Given the description of an element on the screen output the (x, y) to click on. 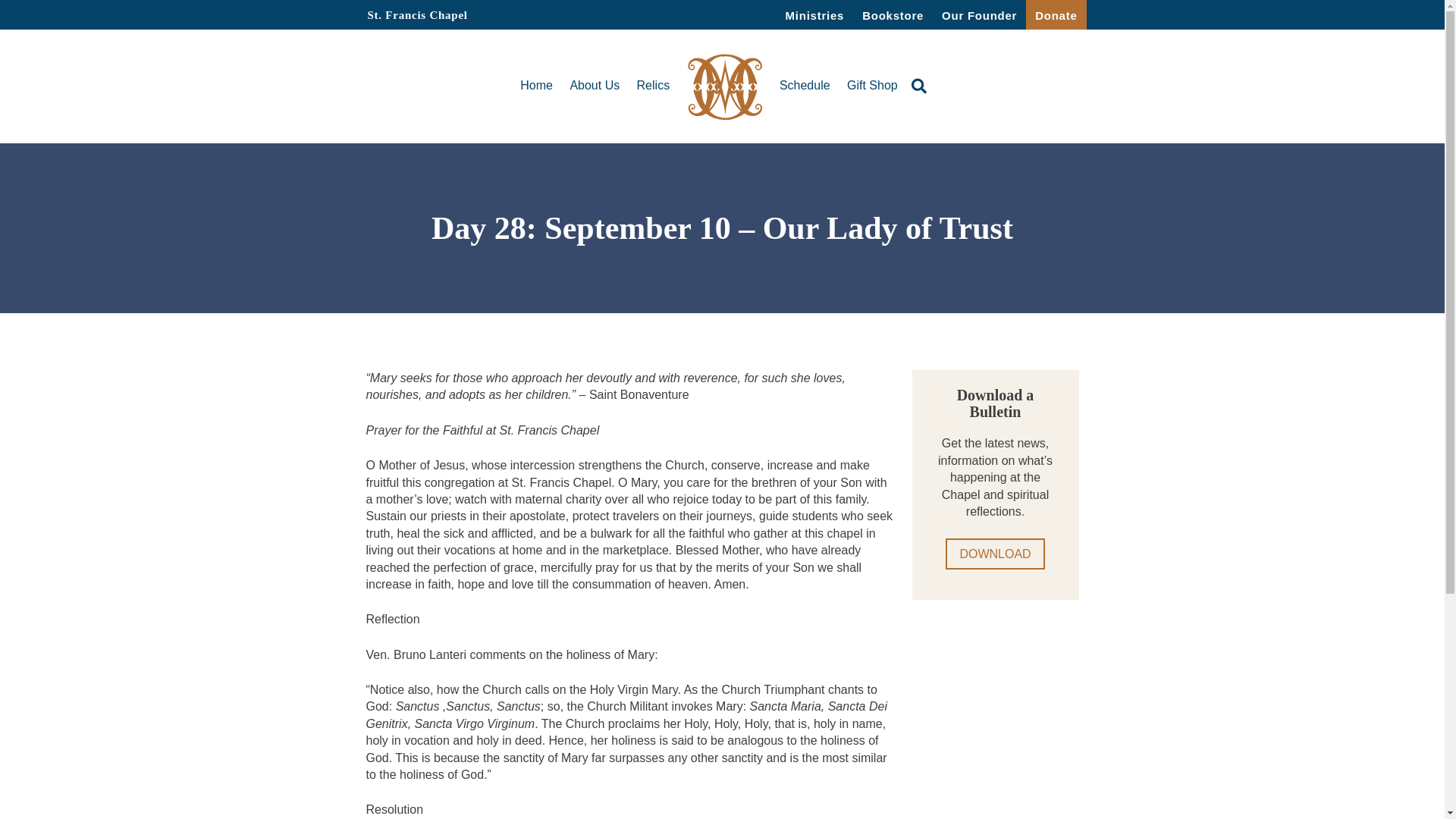
Our Founder (979, 14)
Donate (1056, 14)
Gift Shop (872, 85)
Bookstore (893, 14)
Ministries (814, 14)
DOWNLOAD (993, 553)
Home (536, 85)
Schedule (803, 85)
St. Francis Chapel (427, 16)
Relics (653, 85)
About Us (594, 85)
